Given the description of an element on the screen output the (x, y) to click on. 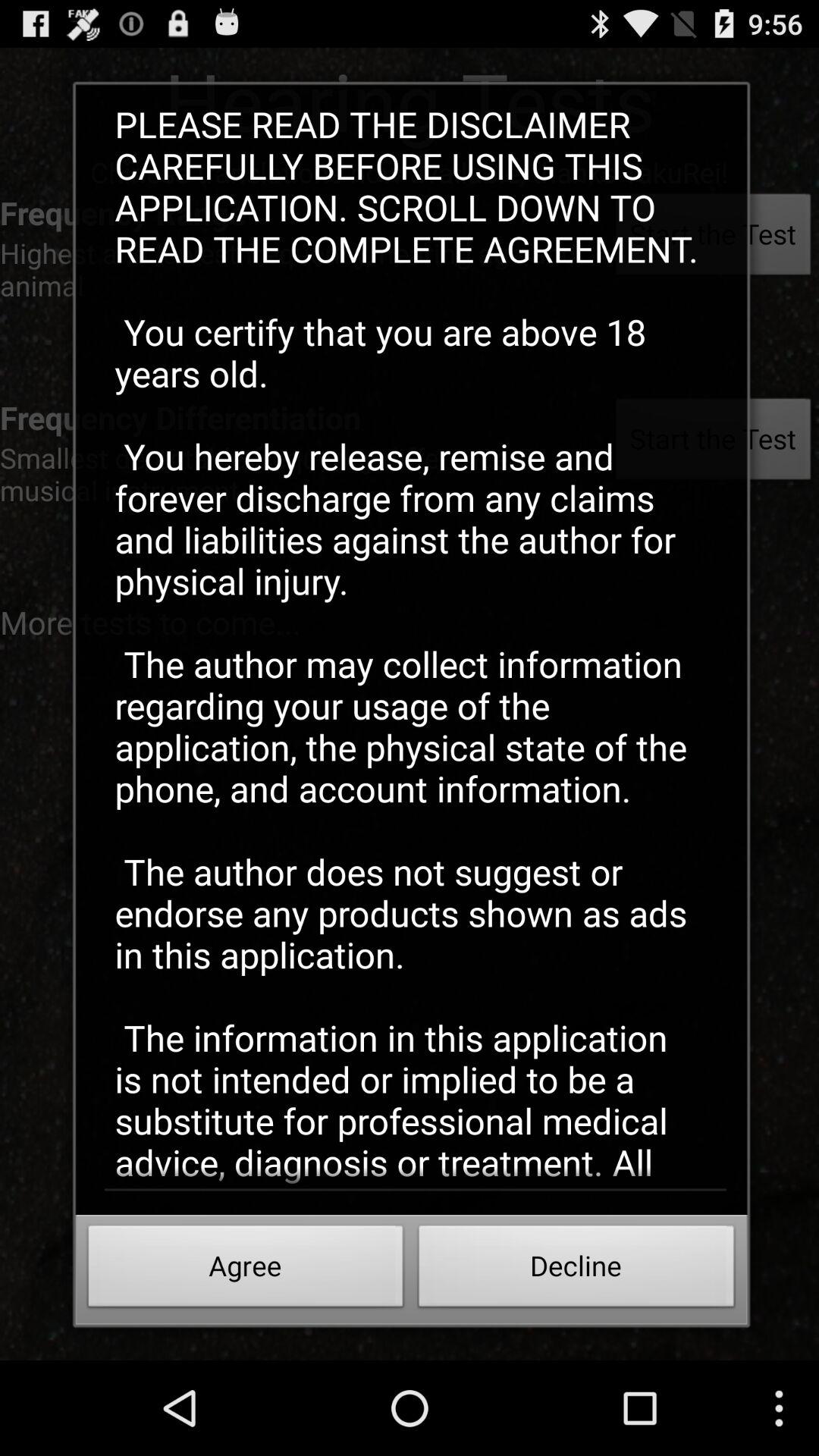
click the app below please read the (576, 1270)
